Given the description of an element on the screen output the (x, y) to click on. 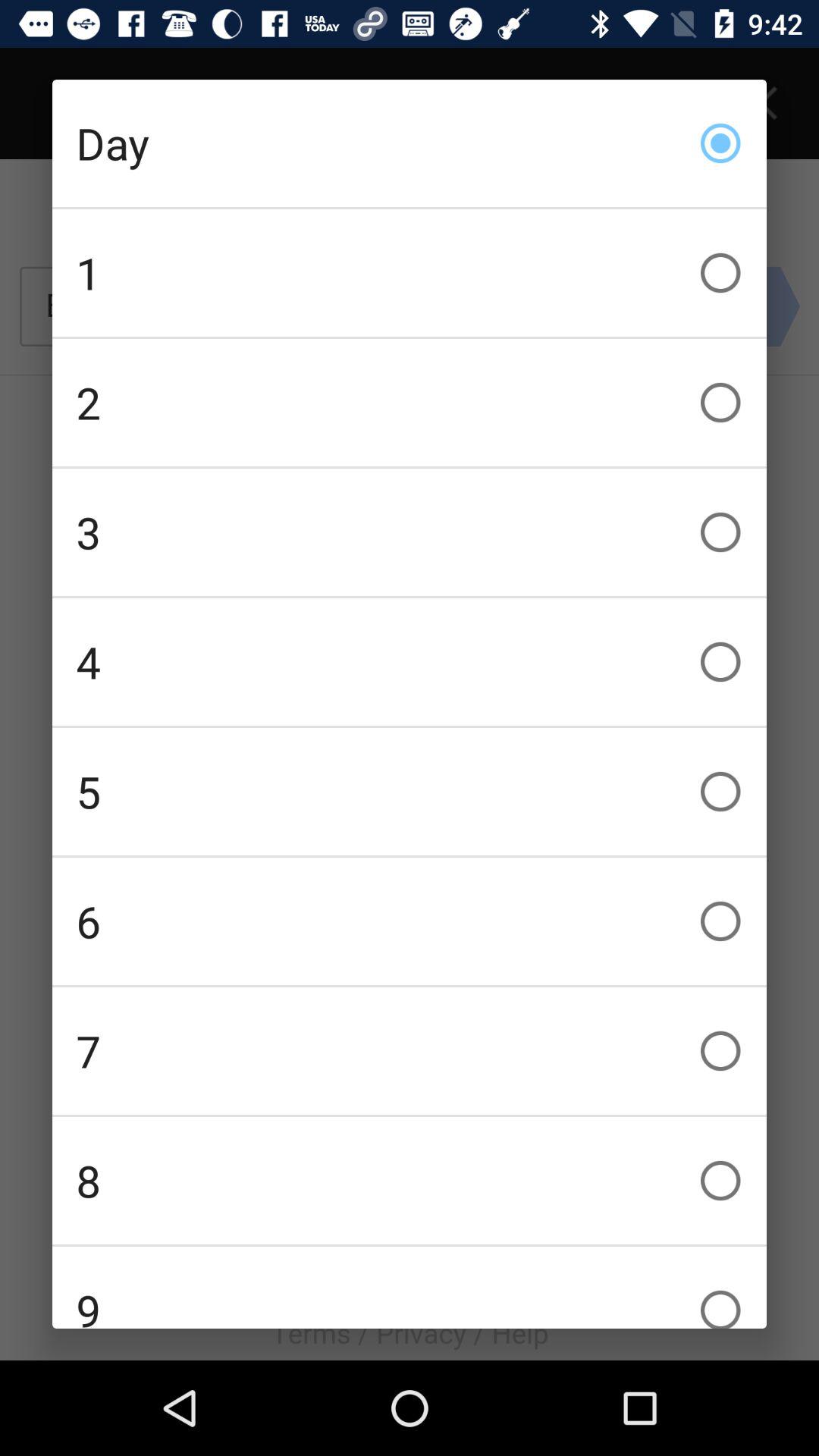
turn off icon above the 2 icon (409, 272)
